Given the description of an element on the screen output the (x, y) to click on. 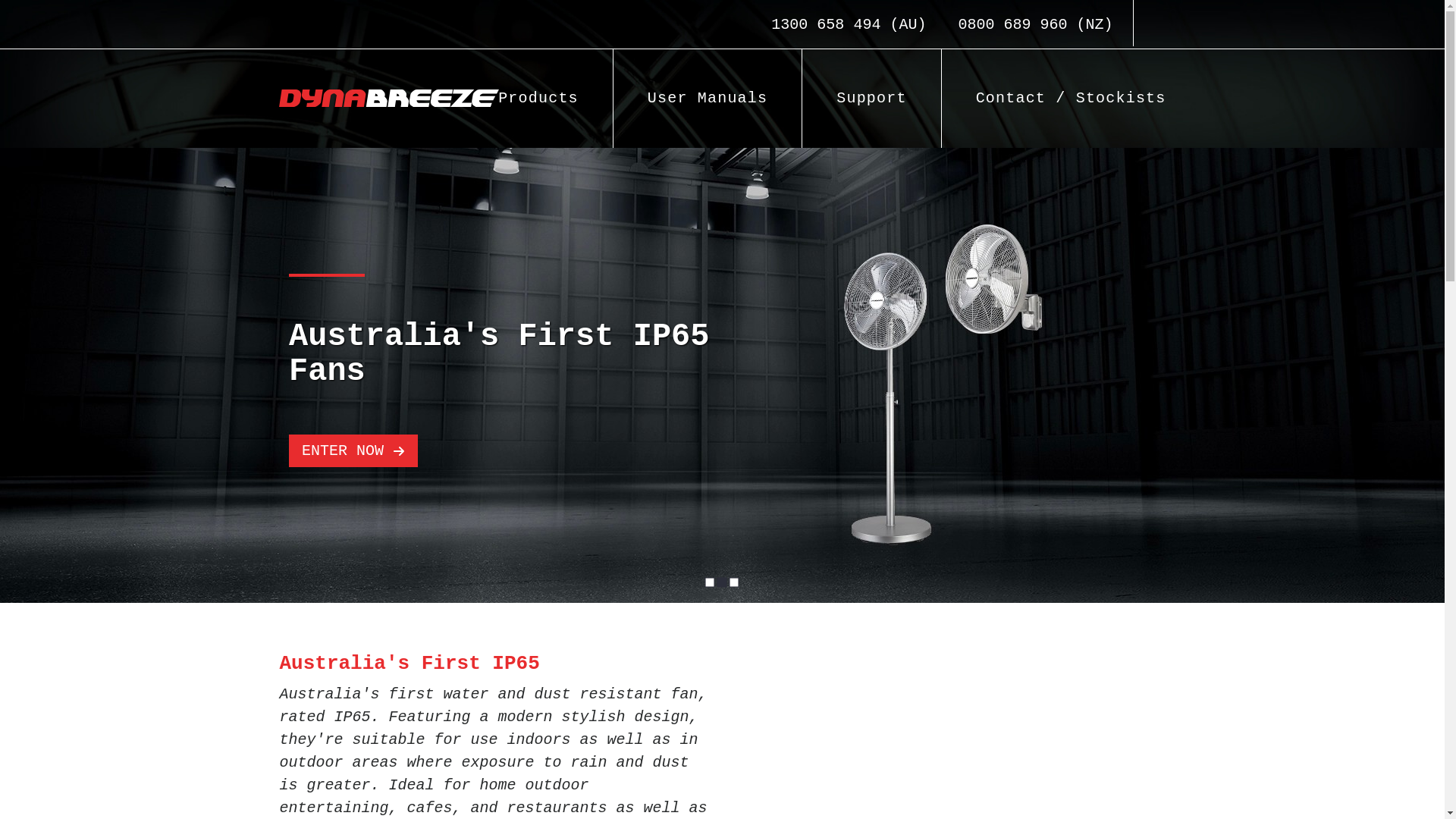
Products Element type: text (538, 98)
Contact / Stockists Element type: text (1053, 98)
ENTER NOW Element type: text (352, 450)
0800 689 960 (NZ) Element type: text (1034, 24)
User Manuals Element type: text (707, 98)
Support Element type: text (871, 98)
1300 658 494 (AU) Element type: text (848, 24)
